Given the description of an element on the screen output the (x, y) to click on. 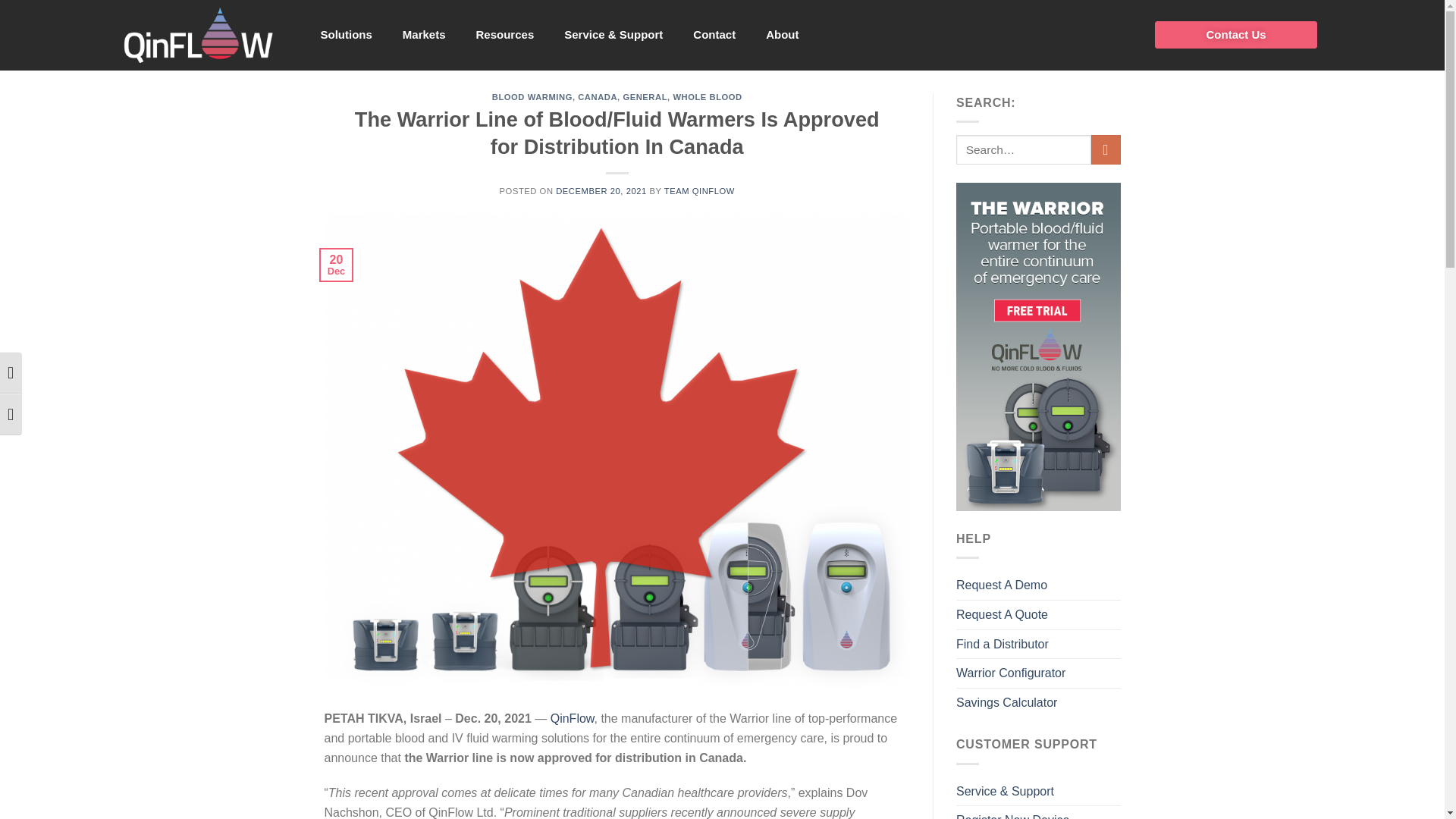
Contact (714, 34)
Markets (424, 34)
About (782, 34)
Resources (505, 34)
Solutions (345, 34)
